Given the description of an element on the screen output the (x, y) to click on. 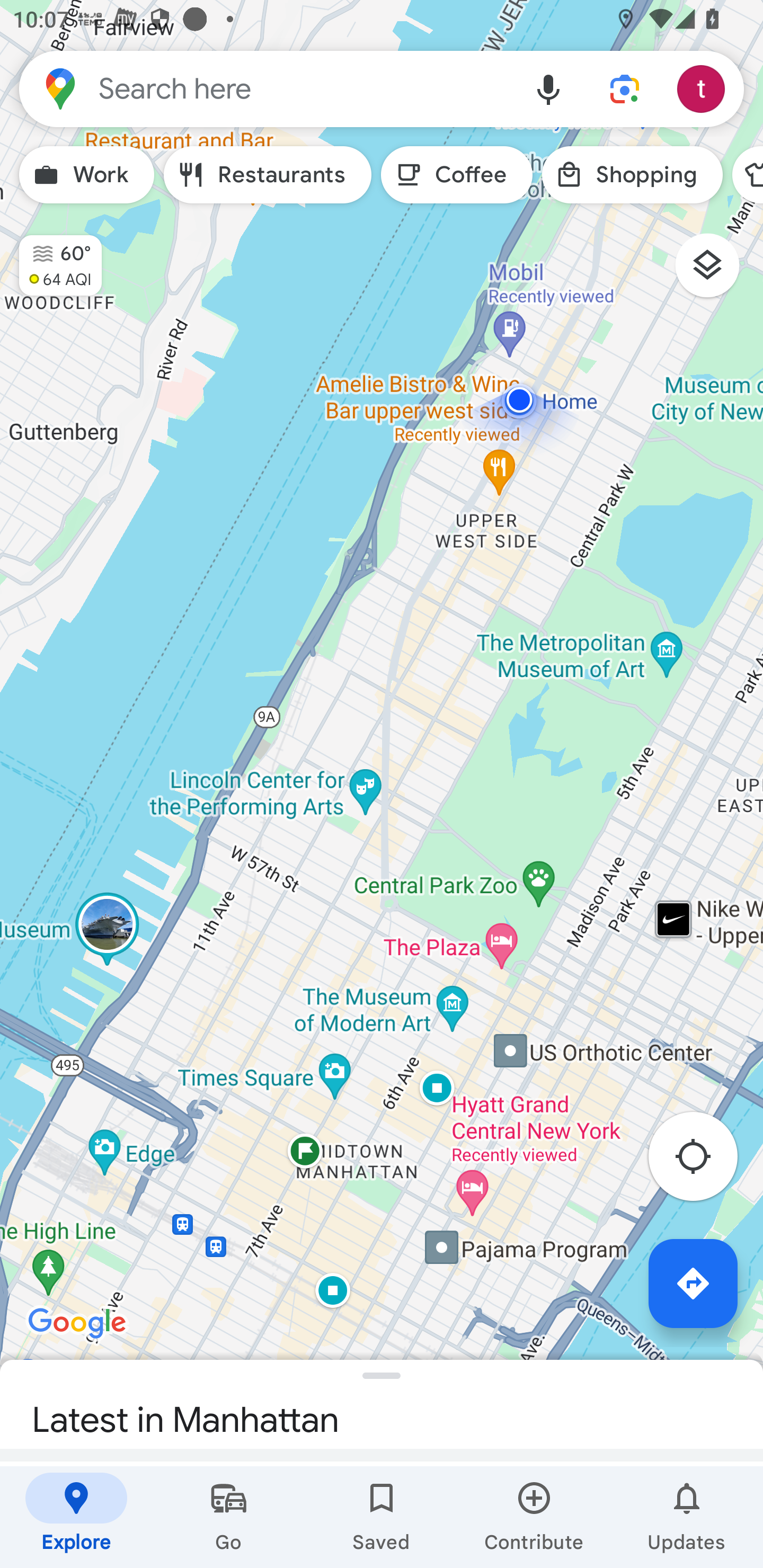
Search here (264, 88)
Voice search (548, 88)
Lens in Maps (624, 88)
Work (86, 174)
Restaurants Search for Restaurants (267, 174)
Coffee Search for Coffee (456, 174)
Shopping Search for Shopping (631, 174)
Fog, 60°, Moderate, 64 AQI 60° 64 AQI (50, 257)
Layers (716, 271)
Re-center map to your location (702, 1161)
Directions (692, 1283)
Go (228, 1517)
Saved (381, 1517)
Contribute (533, 1517)
Updates (686, 1517)
